Given the description of an element on the screen output the (x, y) to click on. 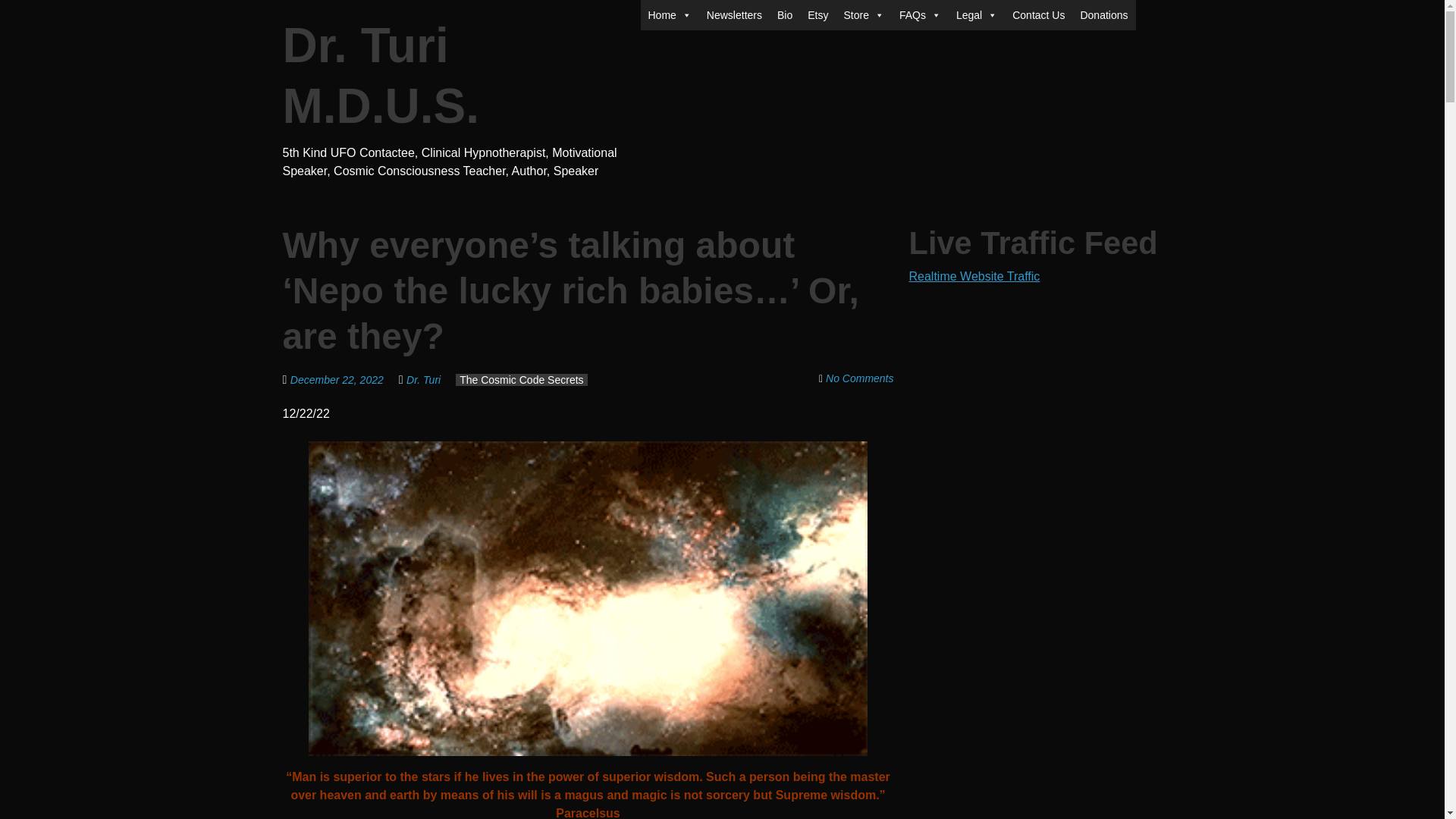
Dr. Turi M.D.U.S. (380, 75)
Newsletters (734, 15)
Store (863, 15)
Bio (784, 15)
Home (669, 15)
Skip to content (680, 9)
Skip to content (680, 9)
Etsy (817, 15)
